Given the description of an element on the screen output the (x, y) to click on. 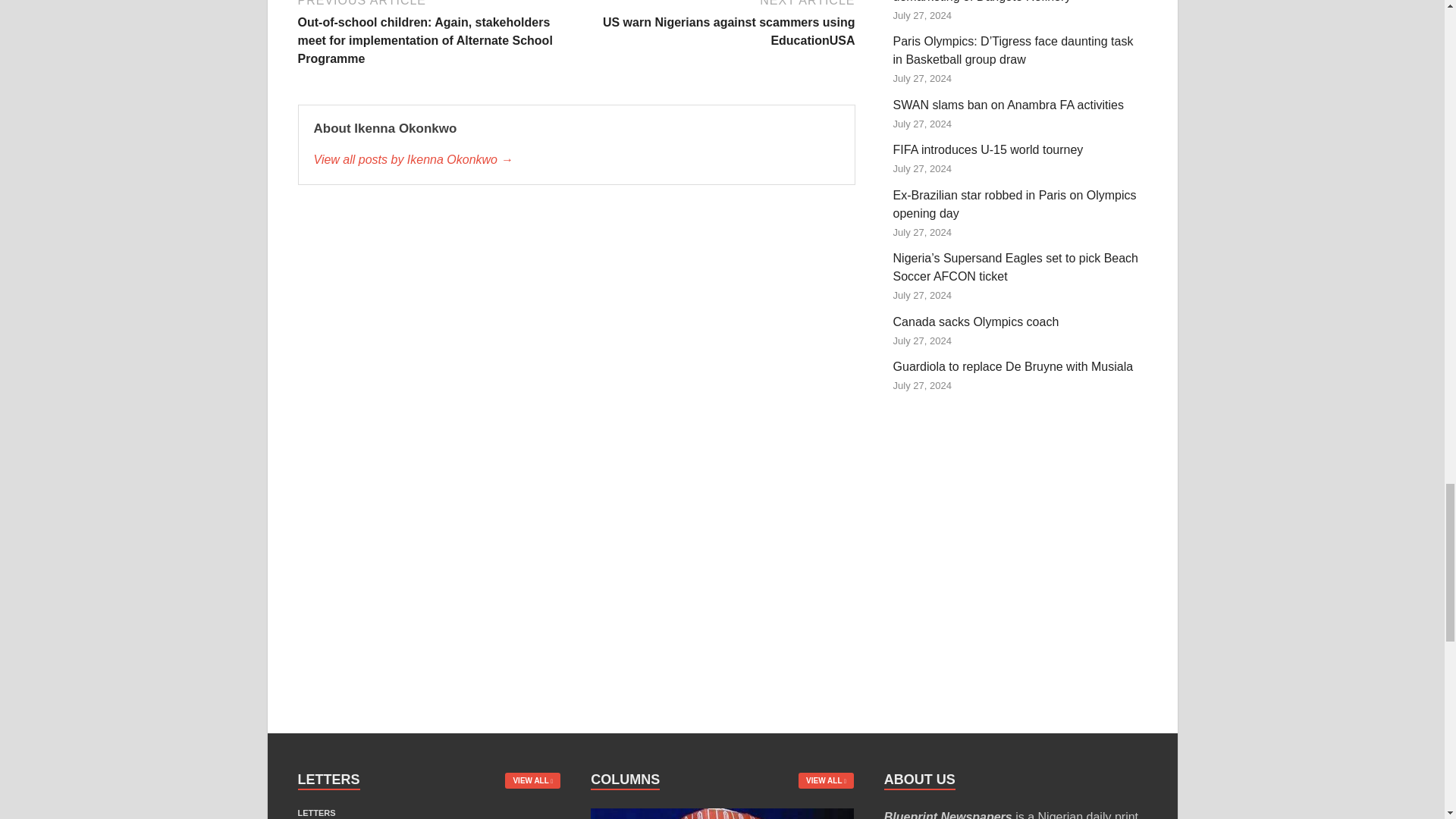
Ikenna Okonkwo (577, 159)
